Given the description of an element on the screen output the (x, y) to click on. 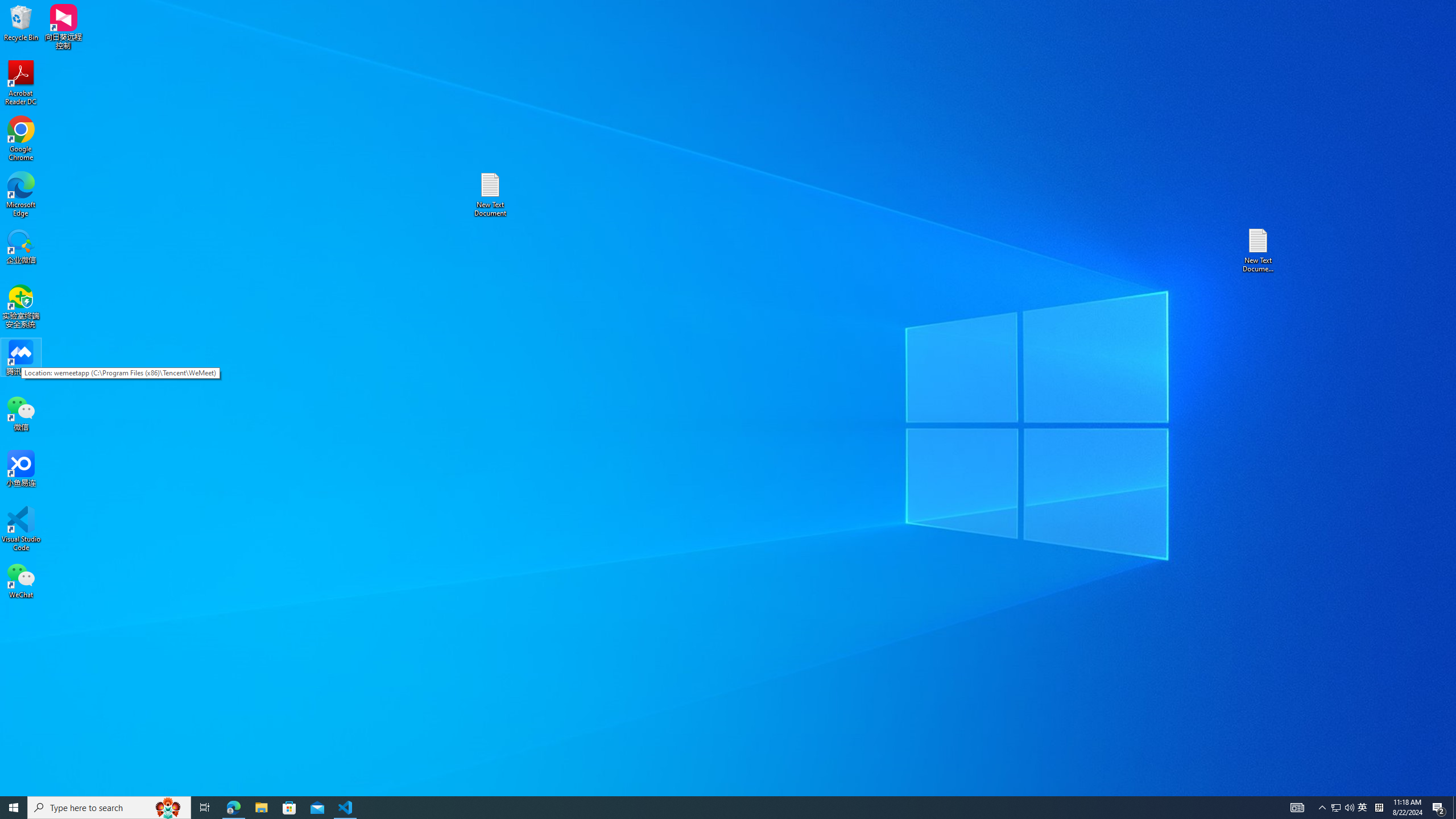
Visual Studio Code - 1 running window (345, 807)
Visual Studio Code (21, 528)
Recycle Bin (21, 22)
Microsoft Store (289, 807)
Google Chrome (21, 138)
Running applications (707, 807)
Start (13, 807)
AutomationID: 4105 (1297, 807)
New Text Document (2) (1258, 250)
User Promoted Notification Area (1342, 807)
New Text Document (489, 194)
Microsoft Edge - 1 running window (233, 807)
